Given the description of an element on the screen output the (x, y) to click on. 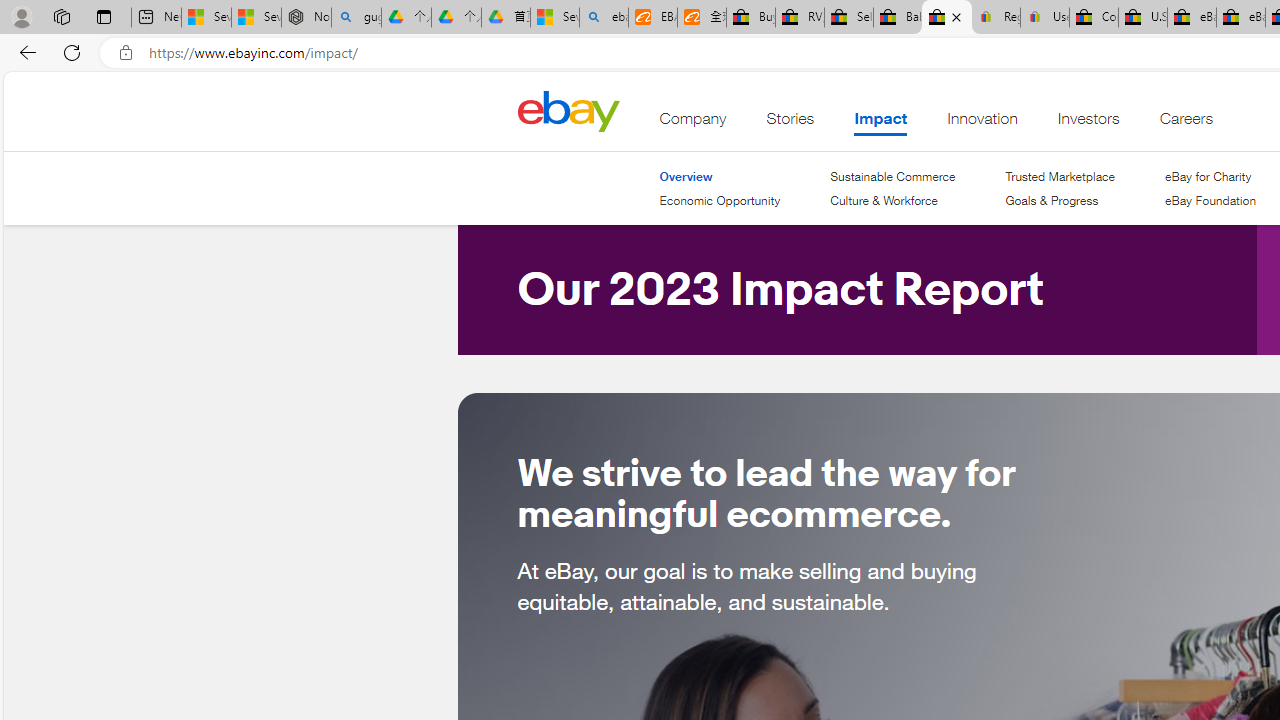
Stories (790, 123)
eBay for Charity (1209, 176)
Sell worldwide with eBay (848, 17)
Investors (1088, 123)
Impact (880, 123)
Overview (685, 176)
Economic Opportunity (719, 200)
Workspaces (61, 16)
Careers (1185, 123)
Innovation (982, 123)
Home (568, 110)
Stories (790, 123)
Investors (1088, 123)
Register: Create a personal eBay account (995, 17)
